Given the description of an element on the screen output the (x, y) to click on. 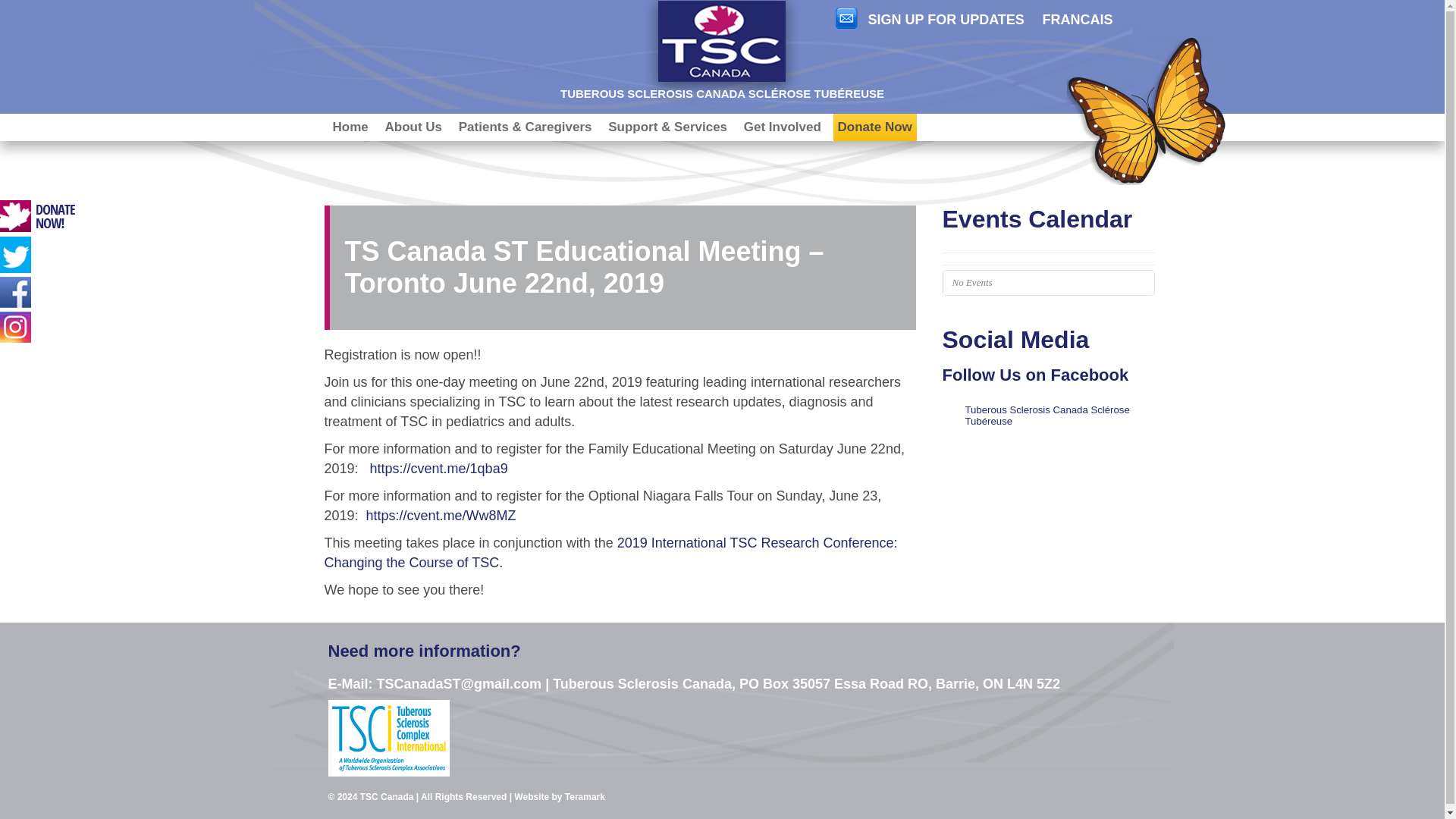
SIGN UP FOR UPDATES (929, 19)
FRANCAIS (1077, 19)
Get Involved (782, 126)
About Us (413, 126)
Home (349, 126)
Donate Now (874, 126)
